Given the description of an element on the screen output the (x, y) to click on. 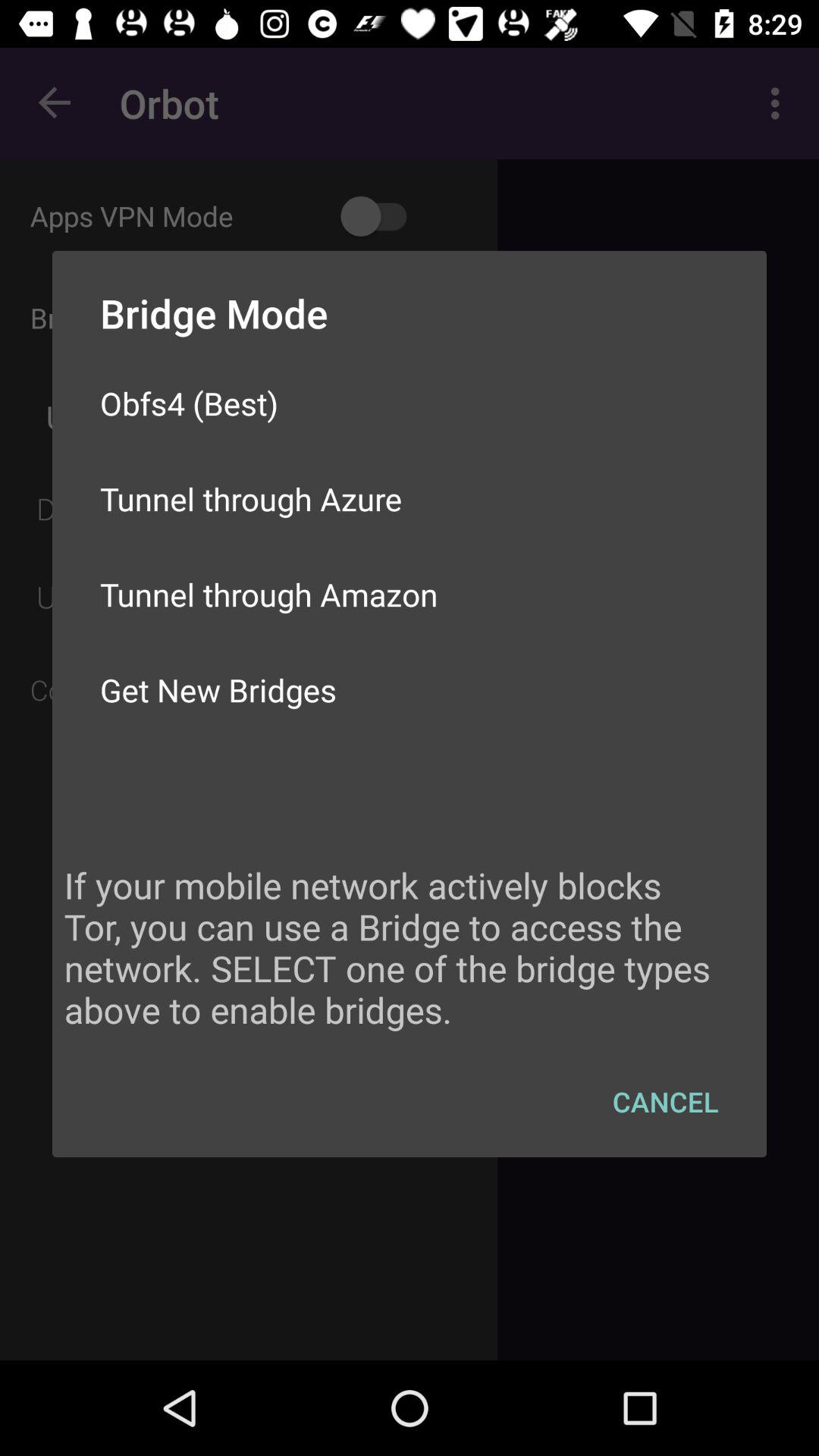
flip to cancel item (665, 1101)
